Given the description of an element on the screen output the (x, y) to click on. 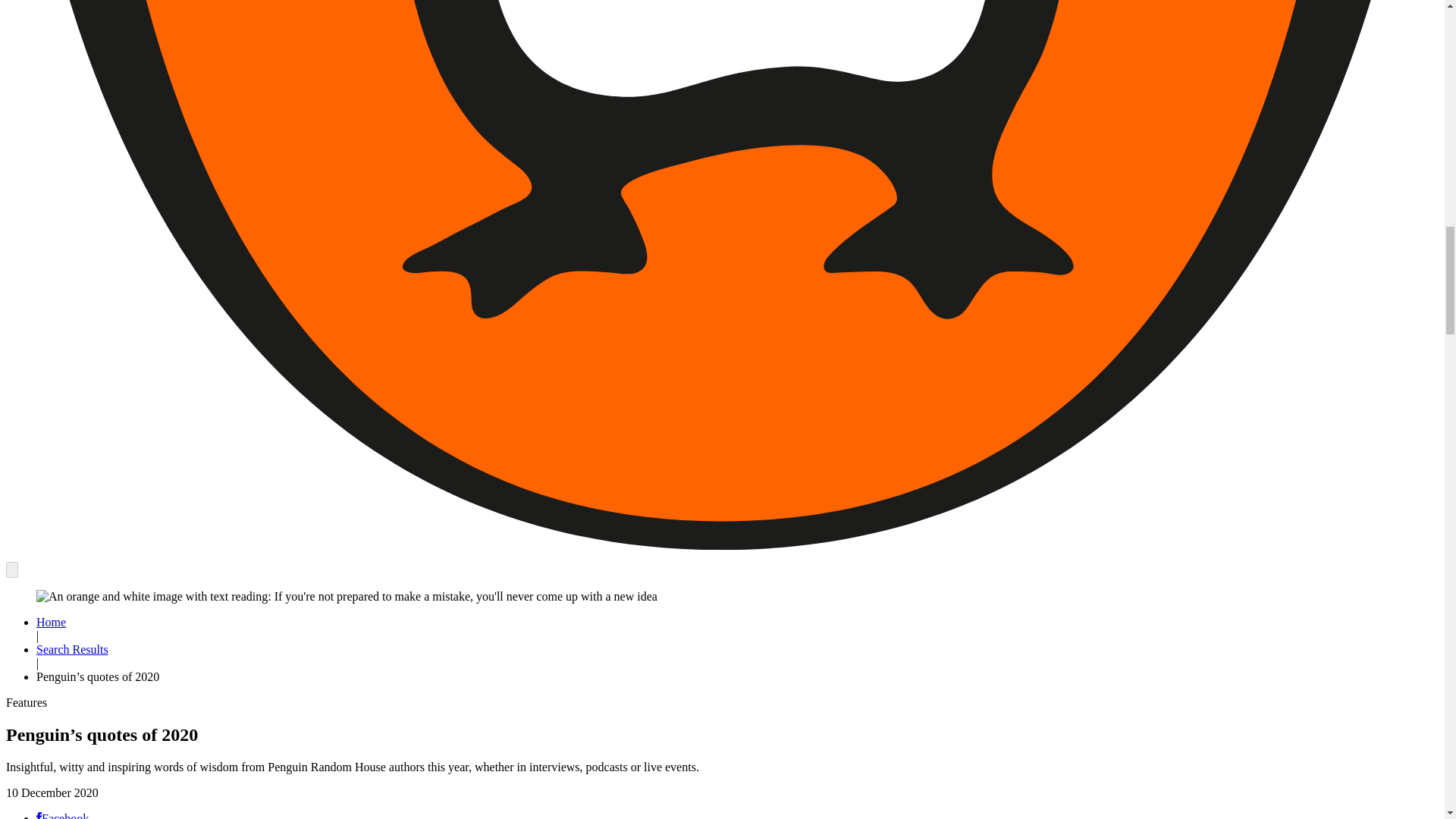
Search Results (71, 649)
Facebook (62, 815)
Home (50, 621)
